Given the description of an element on the screen output the (x, y) to click on. 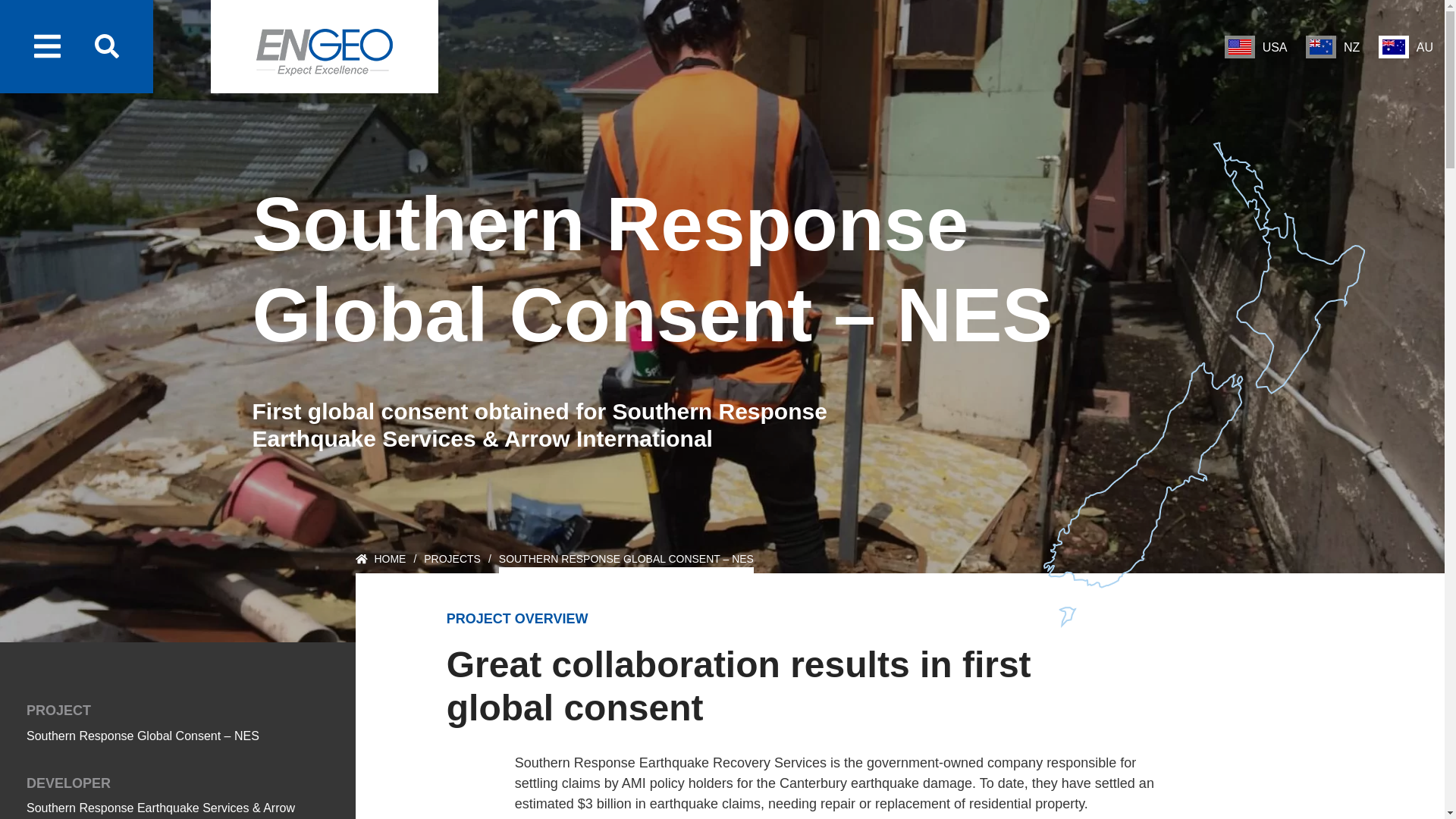
PROJECTS Element type: text (451, 562)
USA Element type: text (1255, 46)
AU Element type: text (1405, 46)
NZ Element type: text (1332, 46)
HOME Element type: text (380, 562)
